Given the description of an element on the screen output the (x, y) to click on. 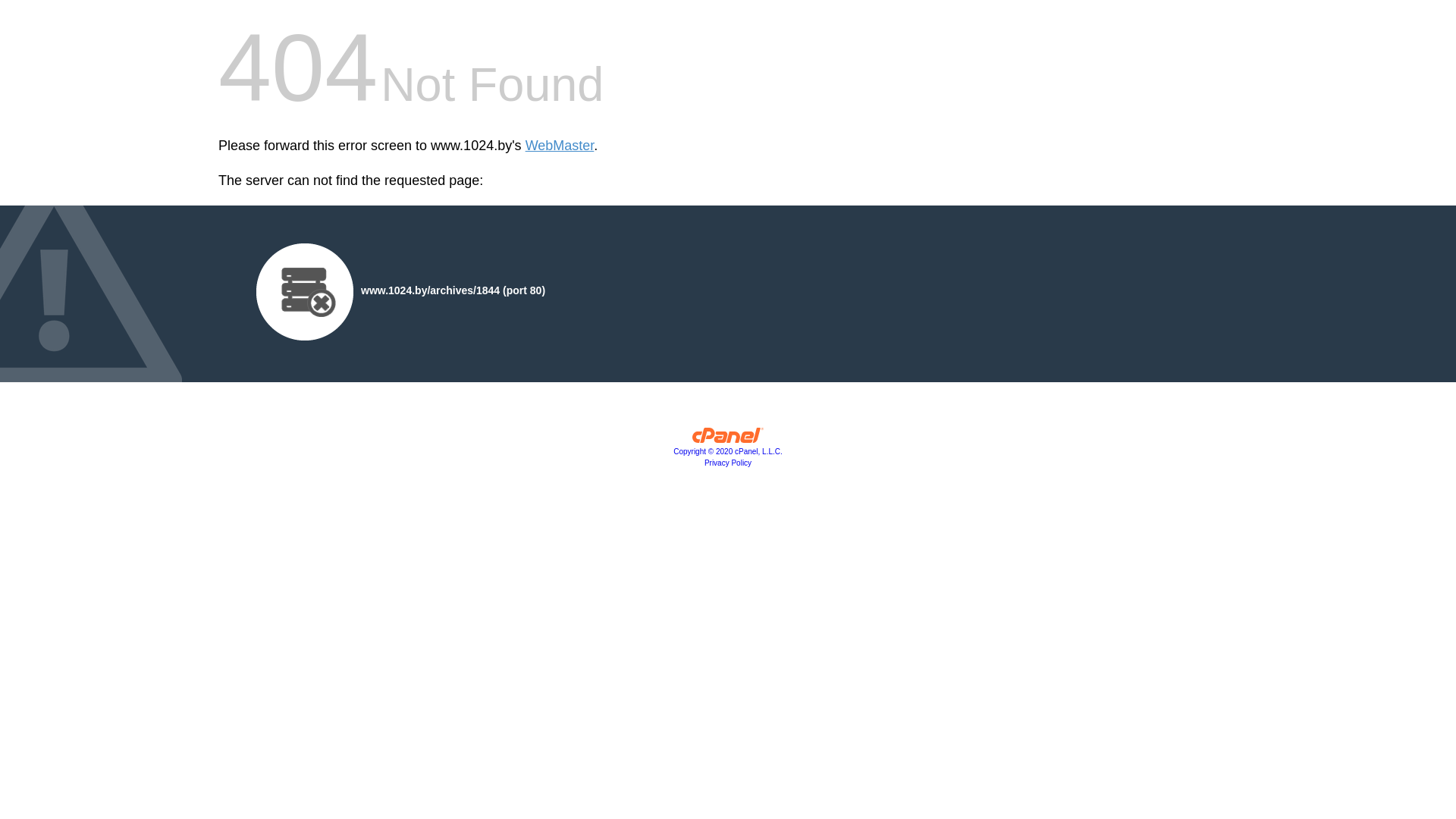
cPanel, Inc. Element type: hover (728, 439)
Privacy Policy Element type: text (727, 462)
WebMaster Element type: text (559, 145)
